Given the description of an element on the screen output the (x, y) to click on. 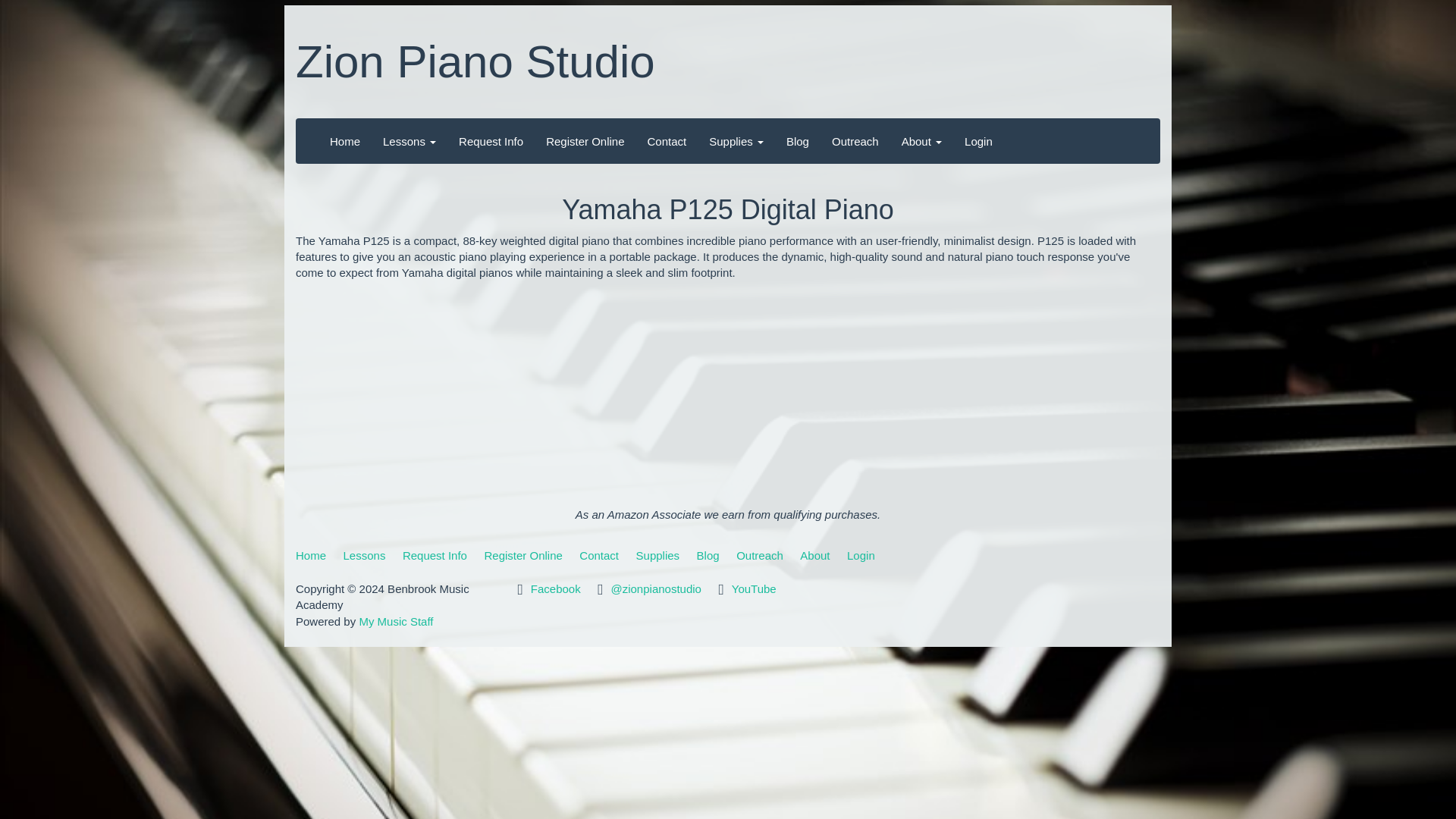
Request Info (490, 140)
Home (310, 554)
Home (344, 140)
Blog (797, 140)
Contact (667, 140)
Request Info (435, 554)
Lessons (364, 554)
Register Online (584, 140)
Lessons (408, 140)
Contact (598, 554)
